Given the description of an element on the screen output the (x, y) to click on. 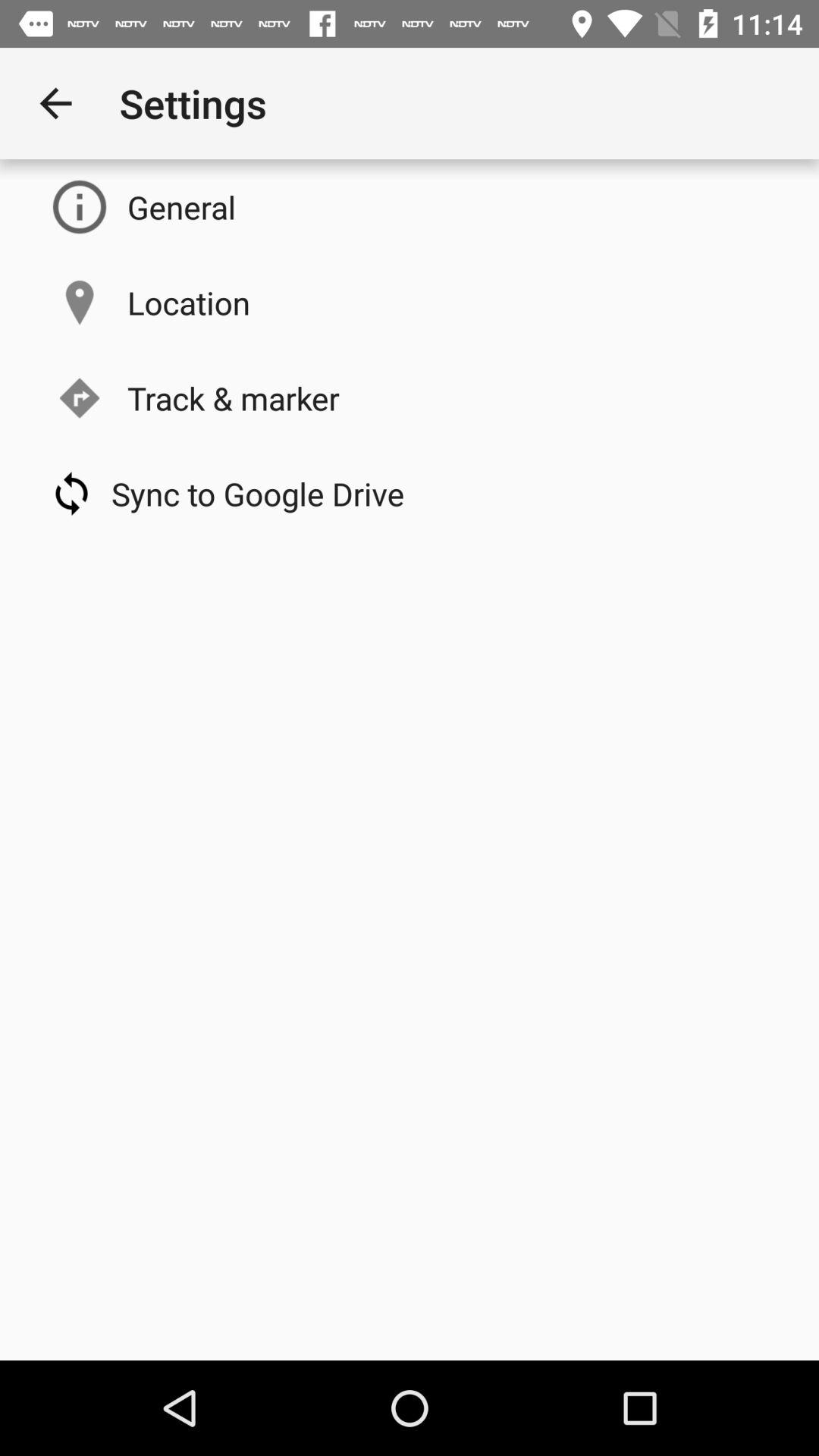
click item above the sync to google (233, 397)
